Given the description of an element on the screen output the (x, y) to click on. 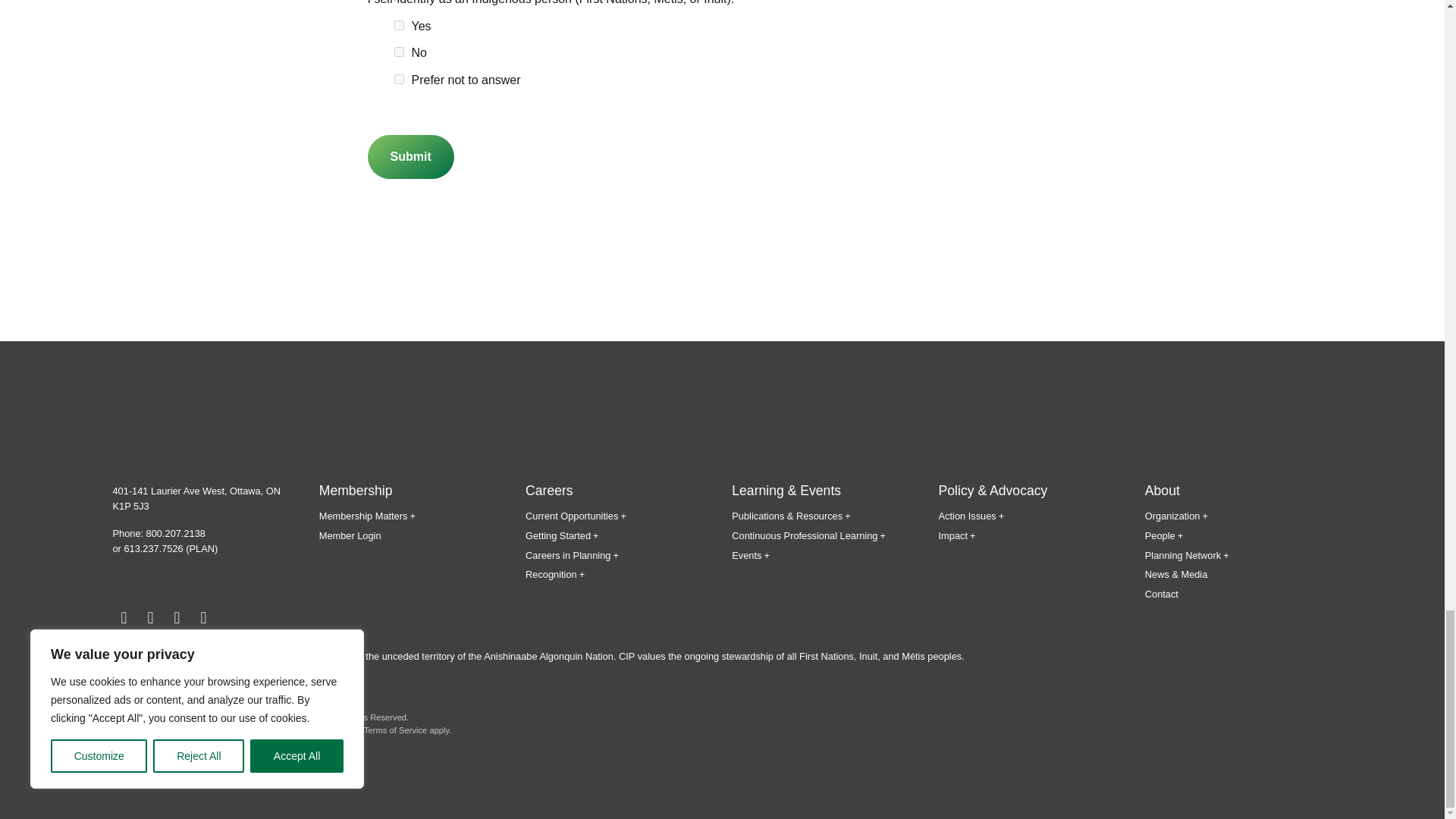
Visit our instagram account (176, 617)
Visit our twitter account (150, 617)
Visit Twirling Umbrellas! (199, 767)
Visit our facebook account (123, 617)
Visit our linkedin account (203, 617)
Yes (399, 25)
